Given the description of an element on the screen output the (x, y) to click on. 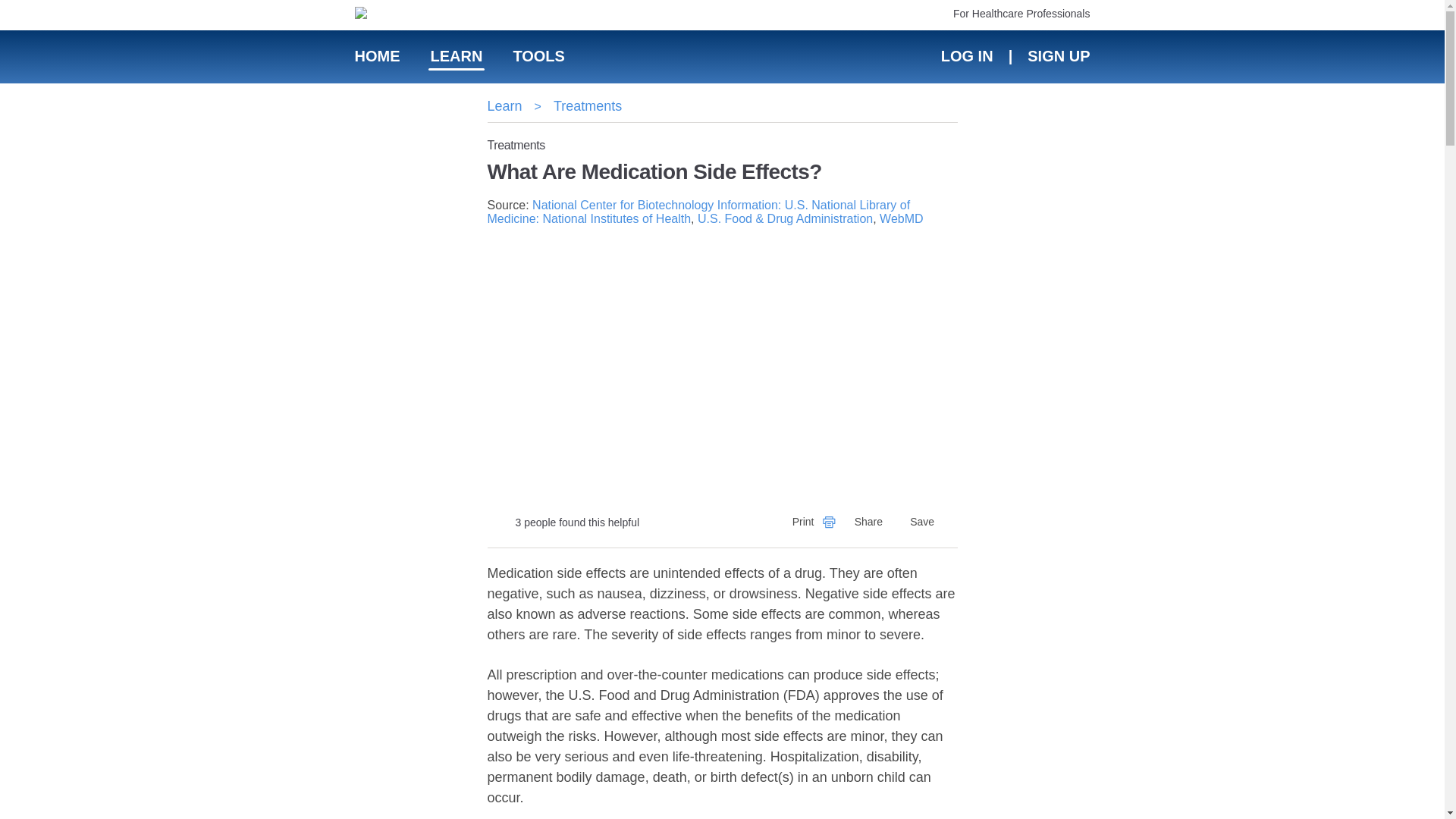
LOG IN (966, 55)
WebMD (901, 218)
LEARN (456, 55)
For Healthcare Professionals (1021, 13)
SIGN UP (1056, 55)
Learn (503, 105)
TOOLS (538, 55)
HOME (377, 55)
Treatments (587, 105)
